Given the description of an element on the screen output the (x, y) to click on. 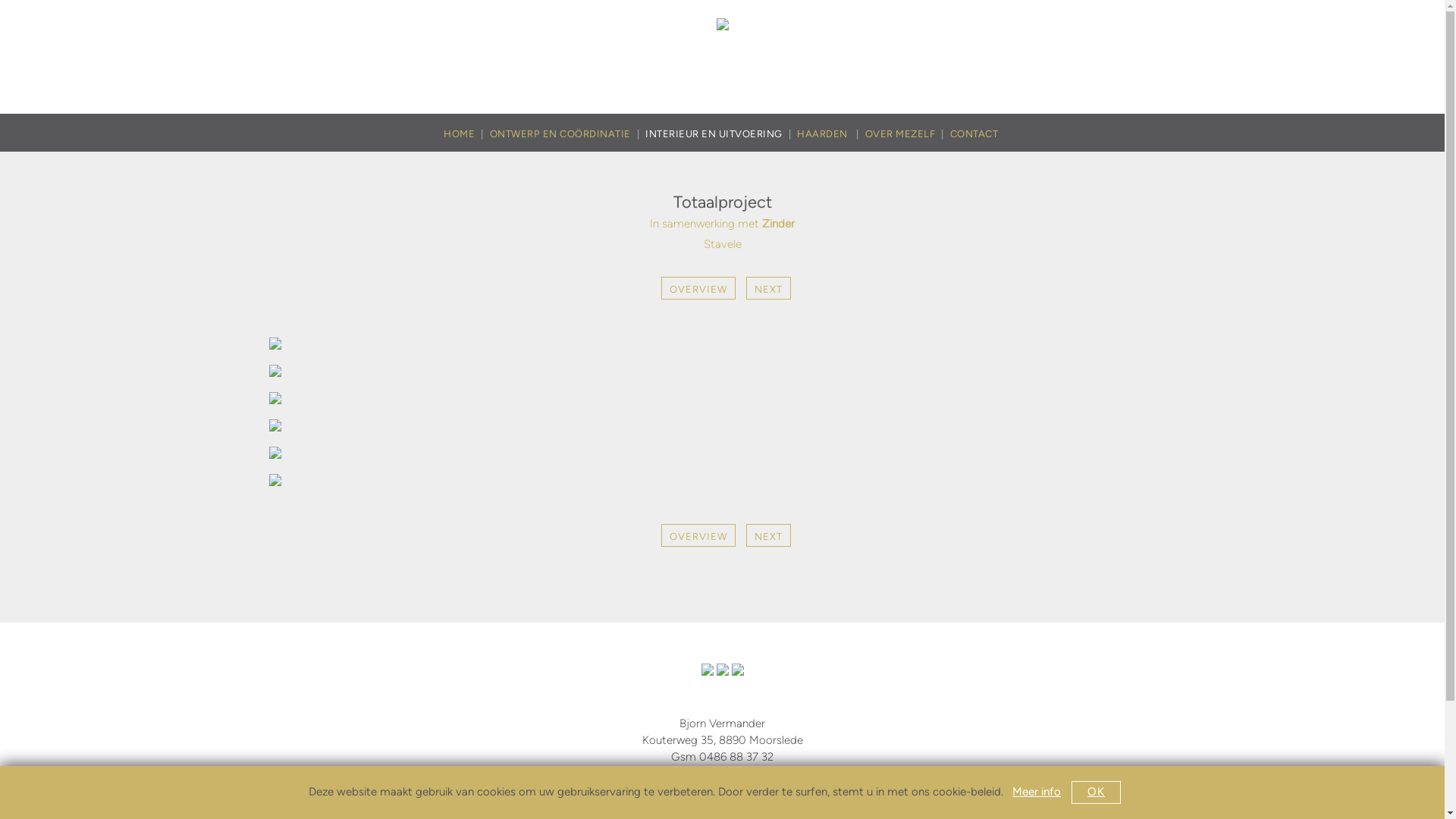
info@bjornvermander.be Element type: text (722, 773)
NEXT Element type: text (764, 288)
OVERVIEW Element type: text (694, 288)
Meer info Element type: text (1036, 791)
NEXT Element type: text (764, 535)
INTERIEUR EN UITVOERING Element type: text (721, 133)
HAARDEN Element type: text (831, 133)
HOME Element type: text (466, 133)
OK Element type: text (1095, 792)
CONTACT Element type: text (973, 133)
OVERVIEW Element type: text (694, 535)
OVER MEZELF Element type: text (906, 133)
